Given the description of an element on the screen output the (x, y) to click on. 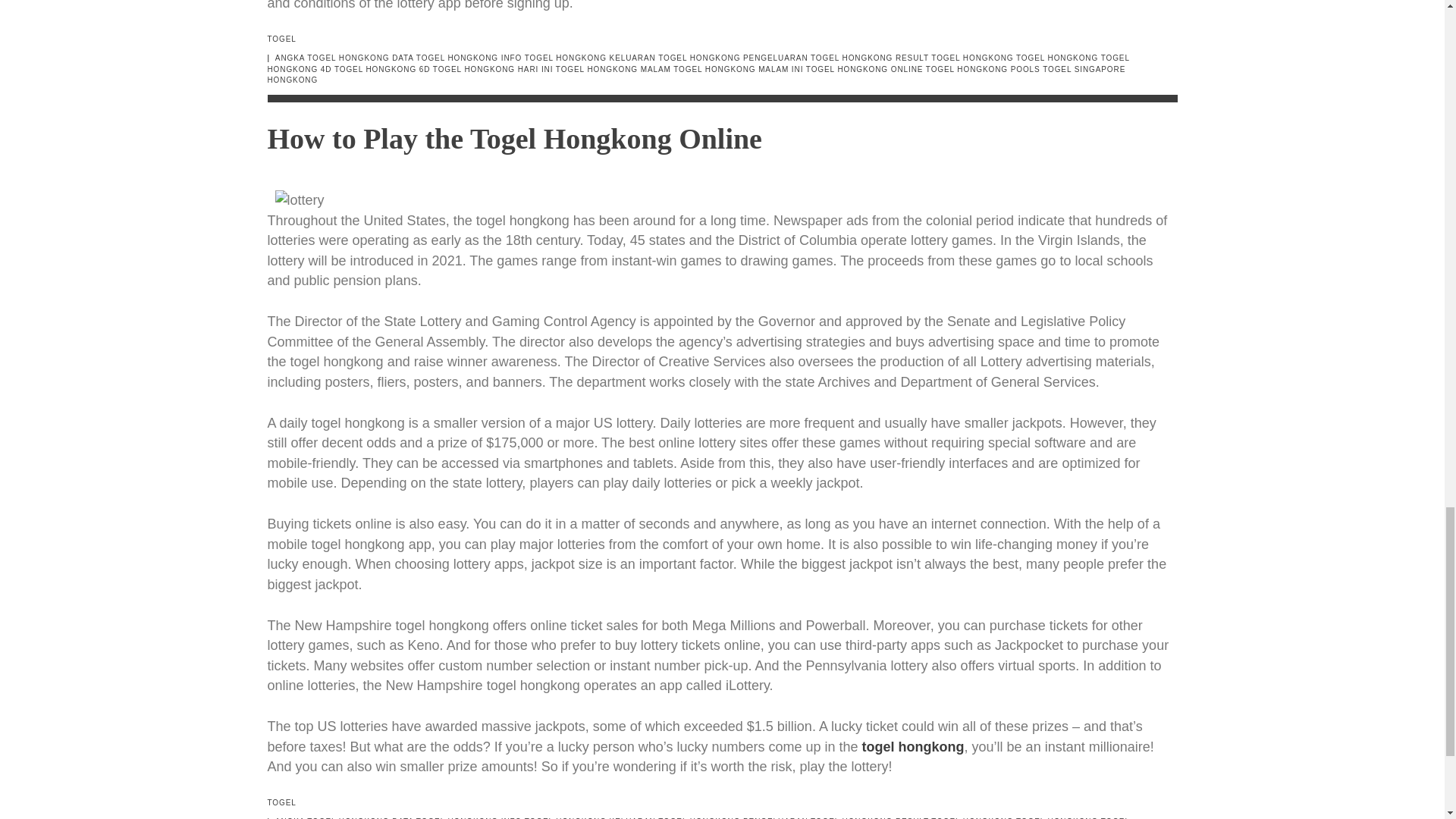
TOGEL HONGKONG MALAM (613, 69)
ANGKA TOGEL HONGKONG (332, 58)
TOGEL HONGKONG HARI INI (492, 69)
RESULT TOGEL HONGKONG (954, 58)
PENGELUARAN TOGEL HONGKONG (817, 58)
How to Play the Togel Hongkong Online (513, 138)
TOGEL HONGKONG POOLS (983, 69)
TOGEL HONGKONG MALAM INI (737, 69)
DATA TOGEL HONGKONG (444, 58)
TOGEL HONGKONG 4D (697, 63)
